Given the description of an element on the screen output the (x, y) to click on. 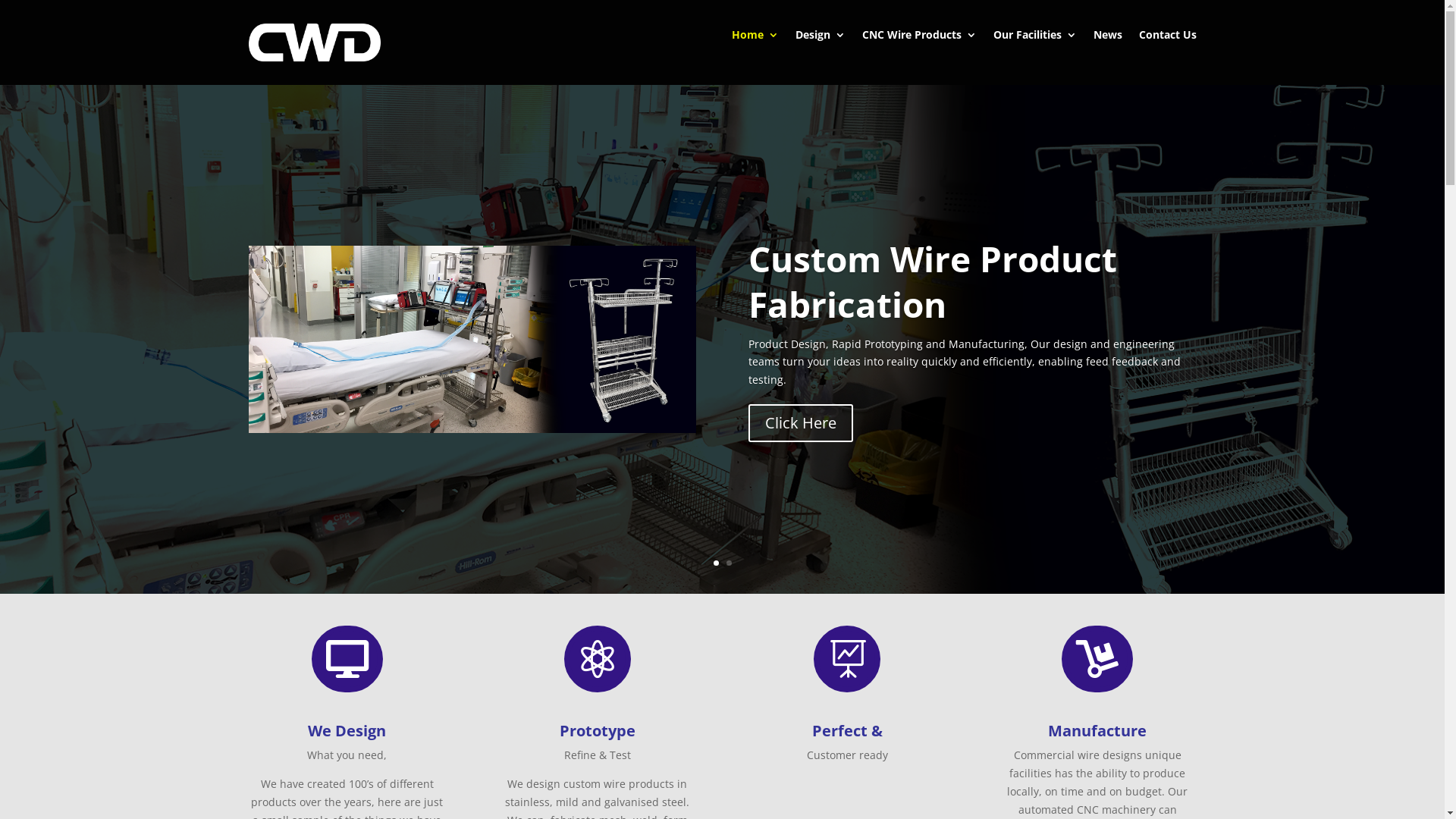
Click Here Element type: text (800, 423)
CNC Wire Products Element type: text (918, 37)
Design Element type: text (819, 37)
Contact Us Element type: text (1167, 37)
News Element type: text (1107, 37)
2 Element type: text (728, 562)
1 Element type: text (715, 562)
CWD Logo Element type: hover (314, 42)
Custom Wire Product Fabrication Element type: text (932, 281)
Our Facilities Element type: text (1034, 37)
Home Element type: text (754, 37)
